Given the description of an element on the screen output the (x, y) to click on. 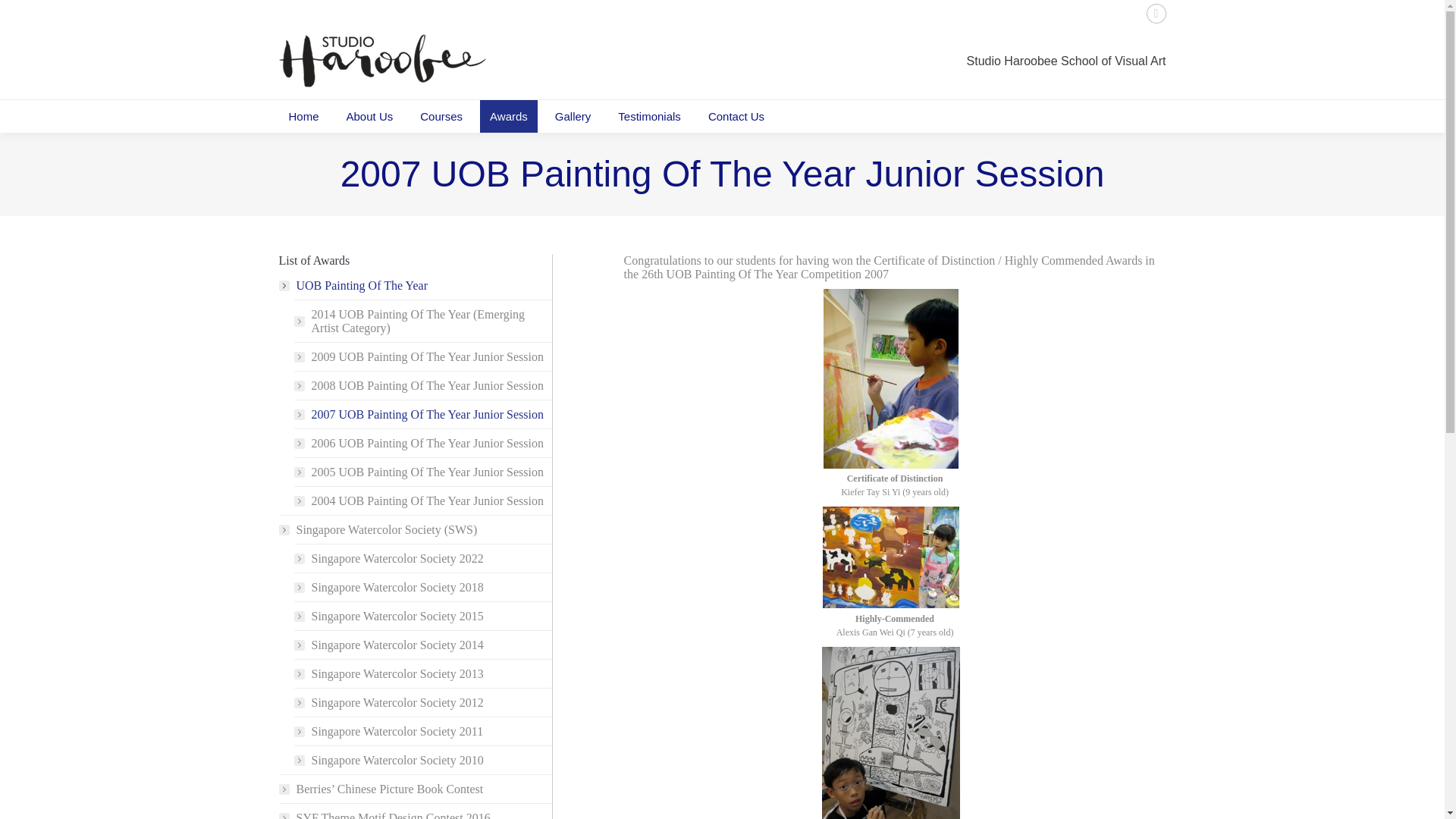
Home (304, 115)
Courses (440, 115)
About Us (369, 115)
Facebook page opens in new window (1156, 13)
Awards (508, 115)
Facebook page opens in new window (1156, 13)
